Given the description of an element on the screen output the (x, y) to click on. 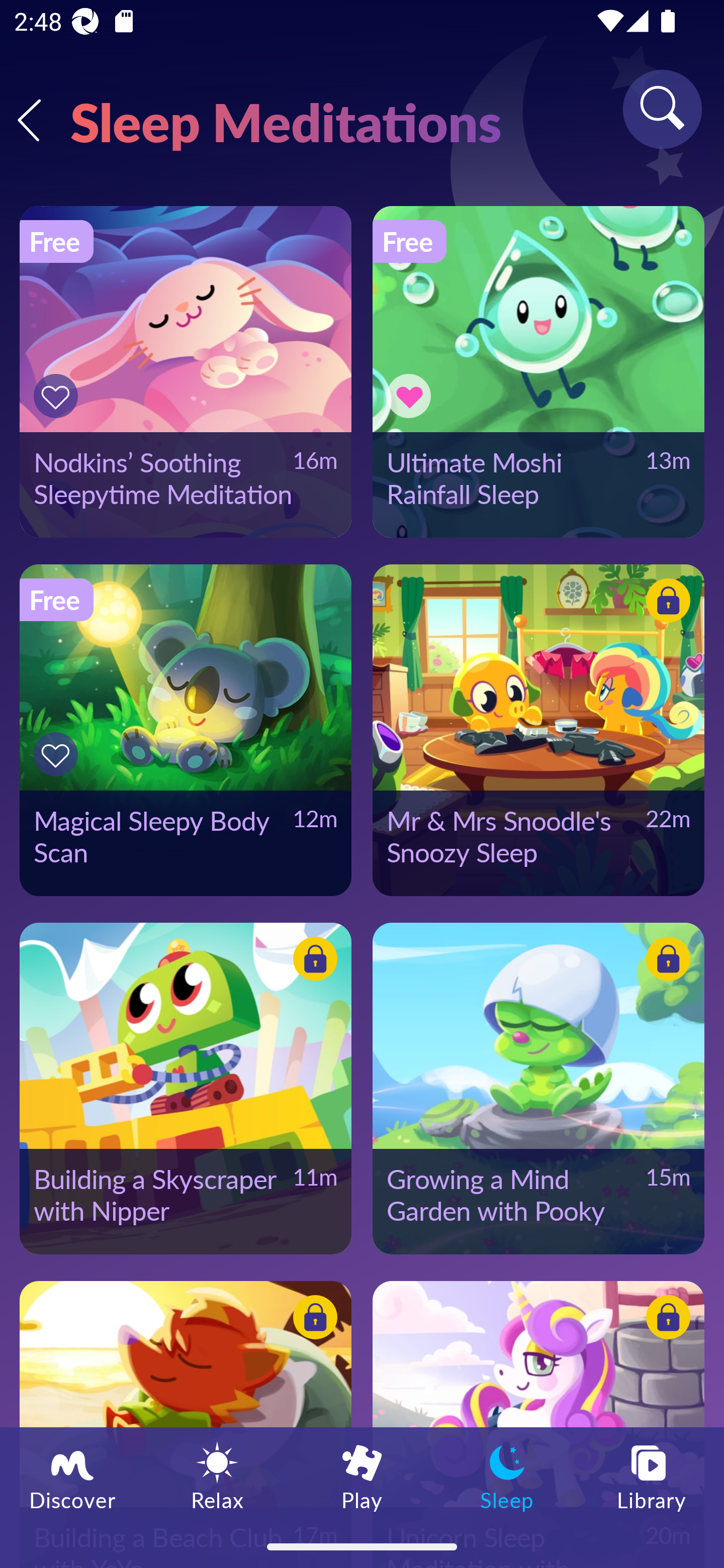
Button (58, 395)
Button (411, 395)
Button (665, 603)
Button (58, 753)
Button (311, 960)
Button (665, 960)
Button (311, 1320)
Button (665, 1320)
Discover (72, 1475)
Relax (216, 1475)
Play (361, 1475)
Library (651, 1475)
